Given the description of an element on the screen output the (x, y) to click on. 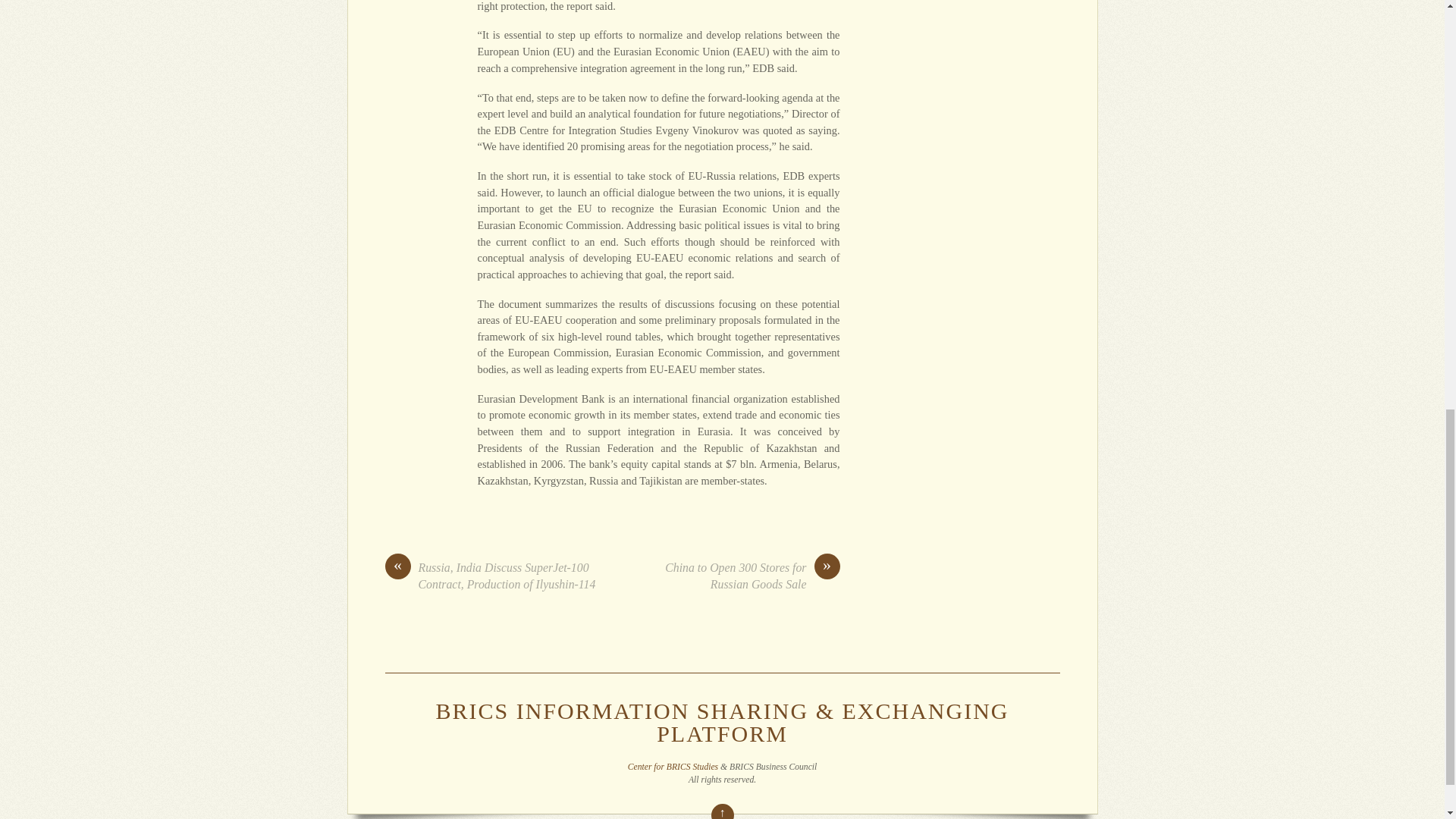
Center for BRICS Studies (672, 767)
